Given the description of an element on the screen output the (x, y) to click on. 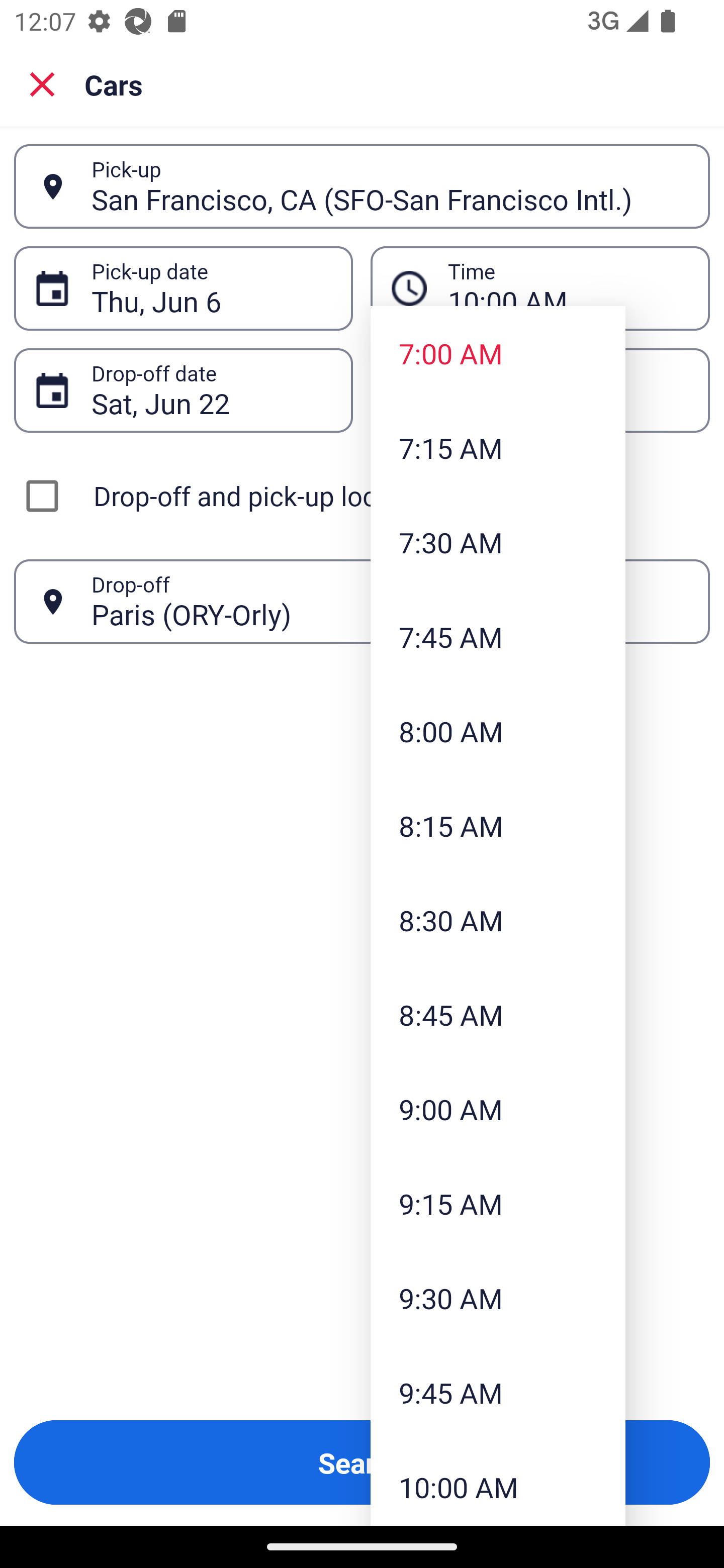
7:00 AM (497, 352)
7:15 AM (497, 447)
7:30 AM (497, 542)
7:45 AM (497, 636)
8:00 AM (497, 730)
8:15 AM (497, 825)
8:30 AM (497, 920)
8:45 AM (497, 1014)
9:00 AM (497, 1109)
9:15 AM (497, 1204)
9:30 AM (497, 1298)
9:45 AM (497, 1392)
10:00 AM (497, 1482)
